Given the description of an element on the screen output the (x, y) to click on. 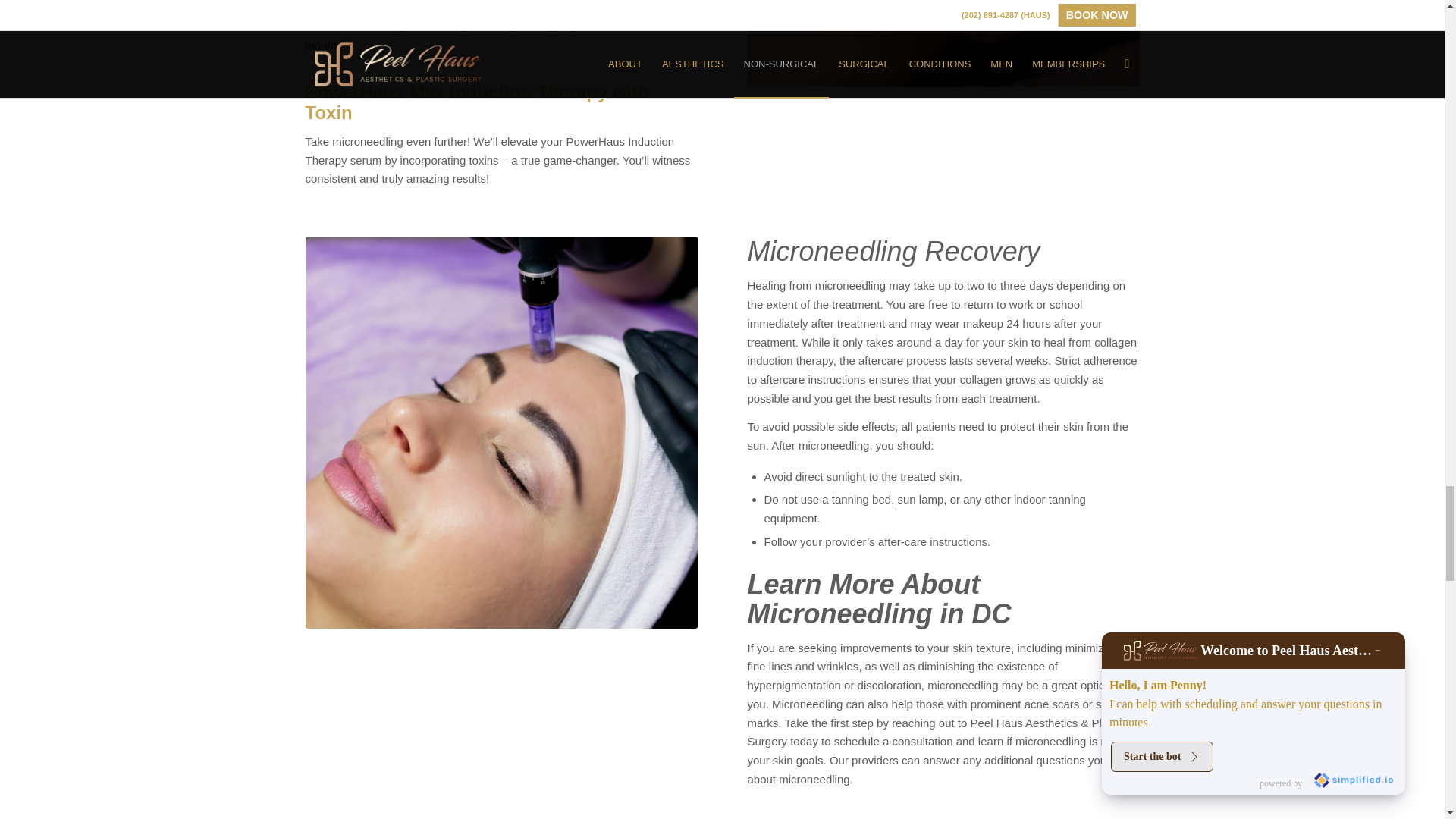
microneedling washington dc (944, 43)
